Given the description of an element on the screen output the (x, y) to click on. 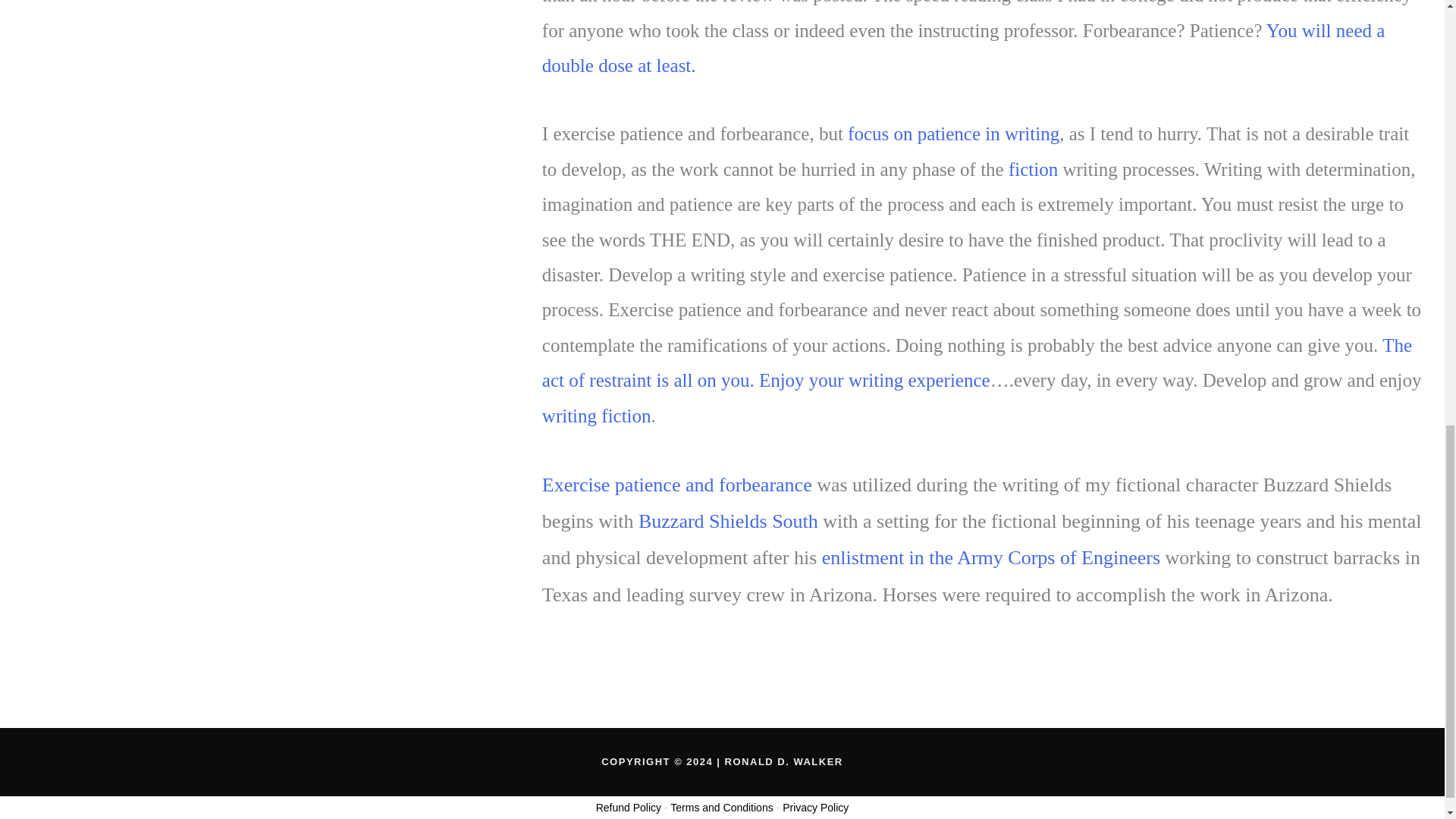
writing fiction (595, 415)
Exercise patience and forbearance (676, 485)
Enjoy your writing experience (874, 380)
The act of restraint is all on you. (976, 362)
Refund Policy (628, 807)
Buzzard Shields South (728, 521)
focus on patience in writing (951, 133)
fiction (1033, 168)
You will need a double dose at least. (962, 48)
enlistment in the Army Corps of Engineers (991, 557)
